Given the description of an element on the screen output the (x, y) to click on. 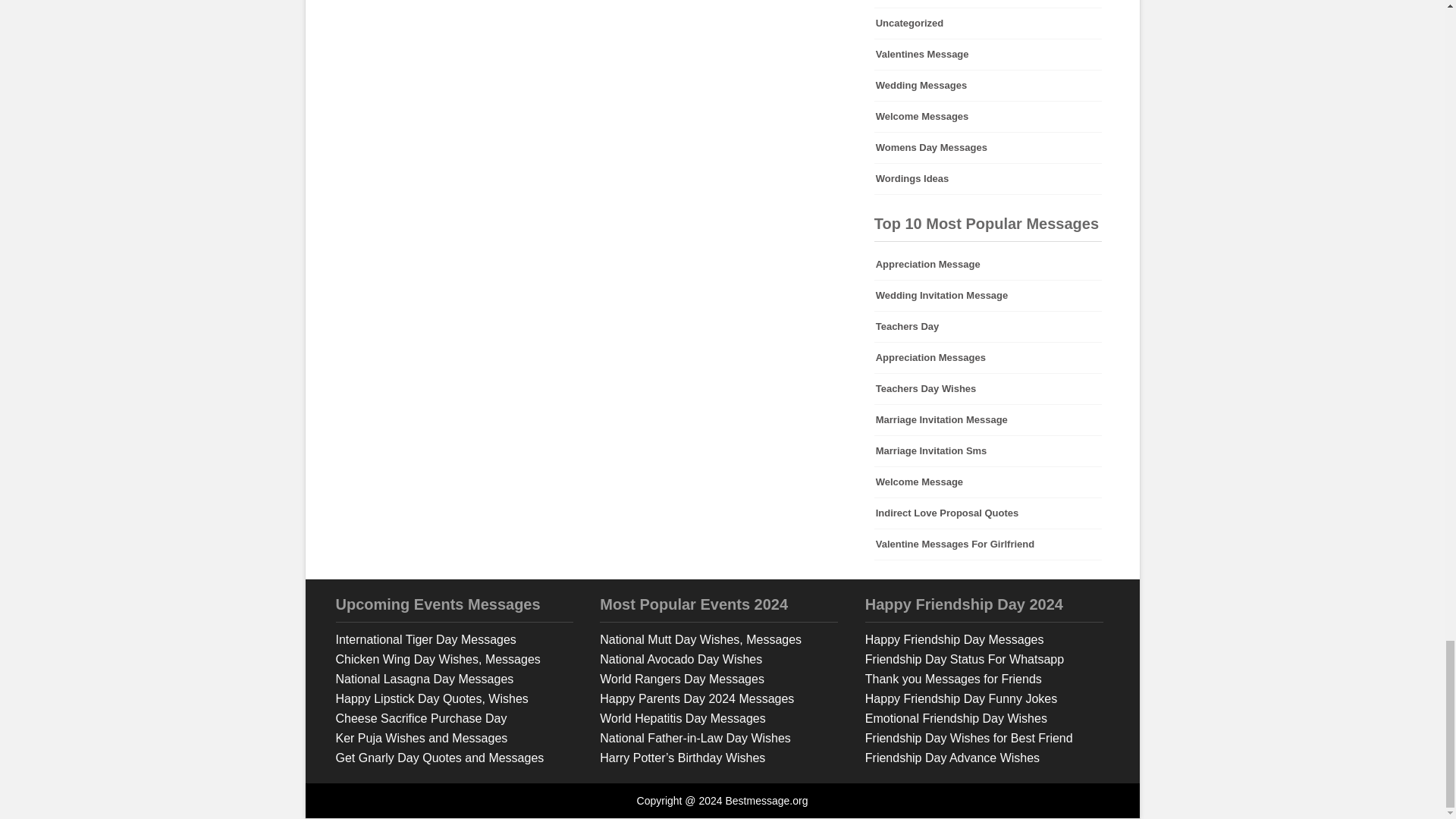
teachers day (988, 327)
marriage invitation message (988, 419)
appreciation messages (988, 358)
wedding invitation message (988, 295)
appreciation message (988, 264)
teachers day wishes (988, 388)
